Given the description of an element on the screen output the (x, y) to click on. 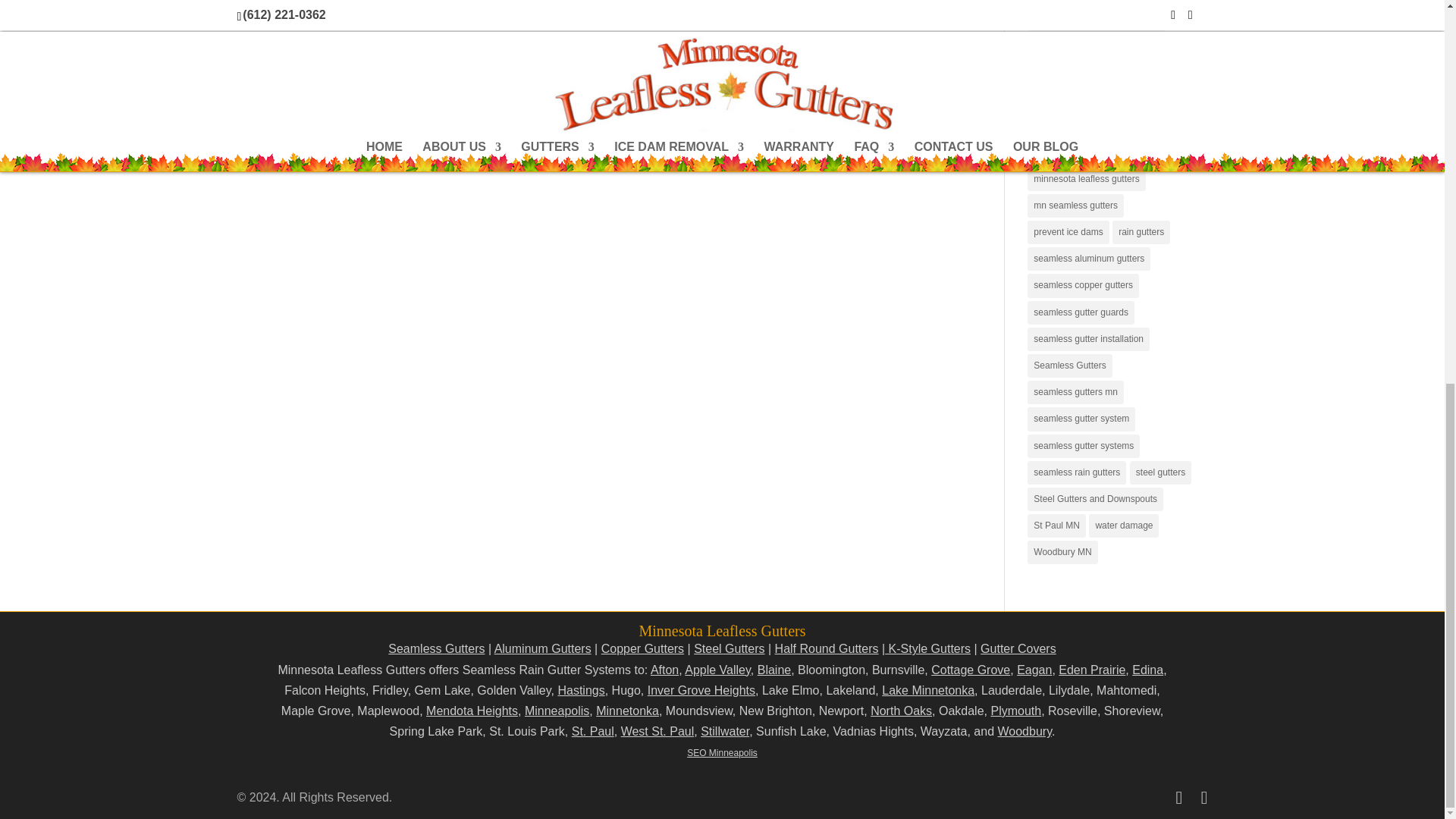
Seamless Gutters West St Paul MN (657, 730)
Seamless Gutters Minneapolis (556, 710)
Minneapolis Search Engine Optimization Services (722, 752)
Seamless Gutters St Paul MN (593, 730)
Leafless Seamless Gutters Minnetonka MN (627, 710)
Seamless Gutter Guards Woodbury MN (1024, 730)
Leafless Seamless Gutters Cottage Grove MN (970, 669)
Seamless Gutters Inver Grove Heights (701, 689)
Leafless Seamless Gutters North Oaks (900, 710)
Leafless Seamless Gutters Afton MN (664, 669)
